Given the description of an element on the screen output the (x, y) to click on. 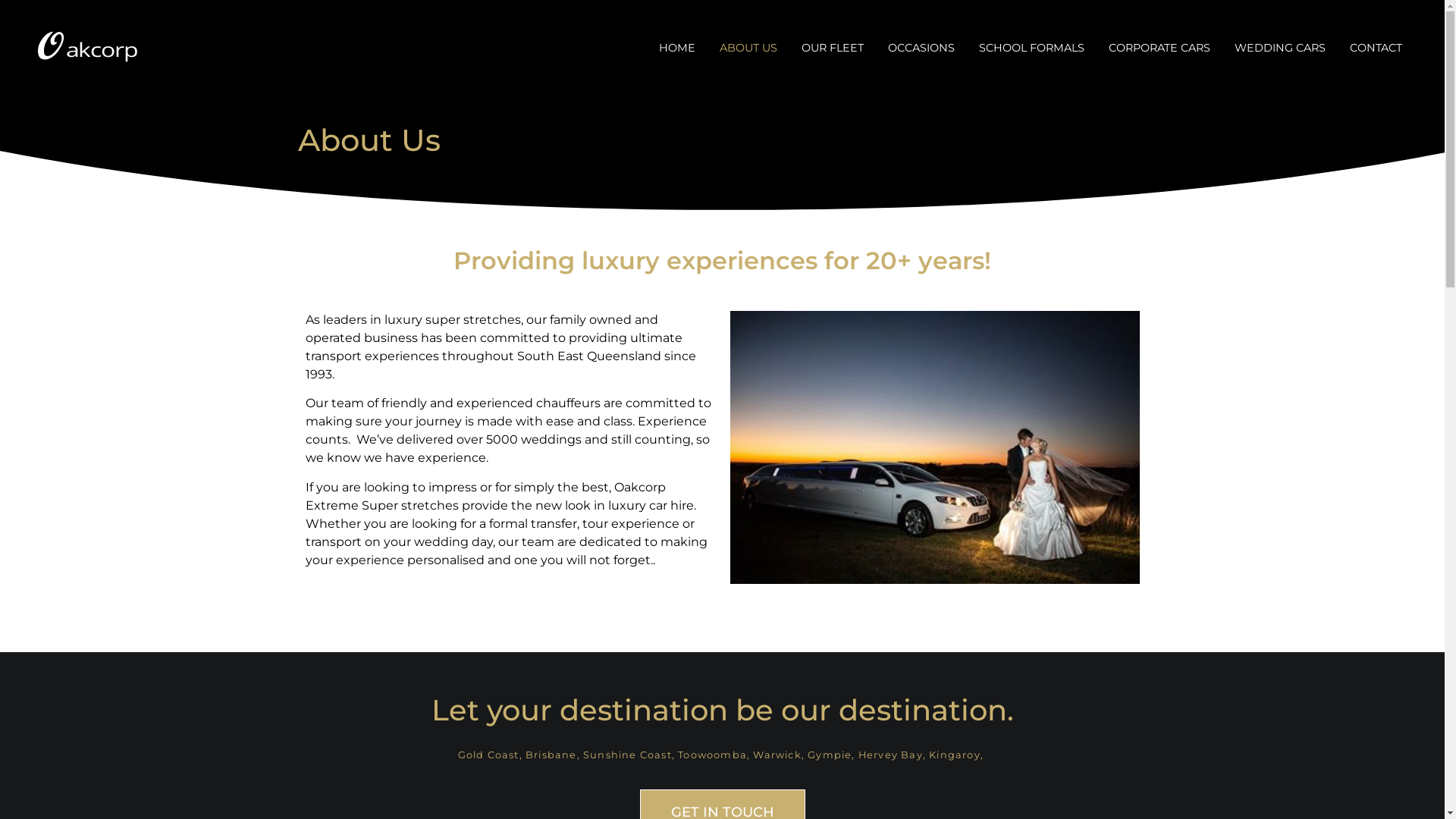
OCCASIONS Element type: text (920, 47)
HOME Element type: text (676, 47)
ABOUT US Element type: text (748, 47)
OUR FLEET Element type: text (832, 47)
WEDDING CARS Element type: text (1279, 47)
CORPORATE CARS Element type: text (1159, 47)
SCHOOL FORMALS Element type: text (1031, 47)
CONTACT Element type: text (1375, 47)
